Given the description of an element on the screen output the (x, y) to click on. 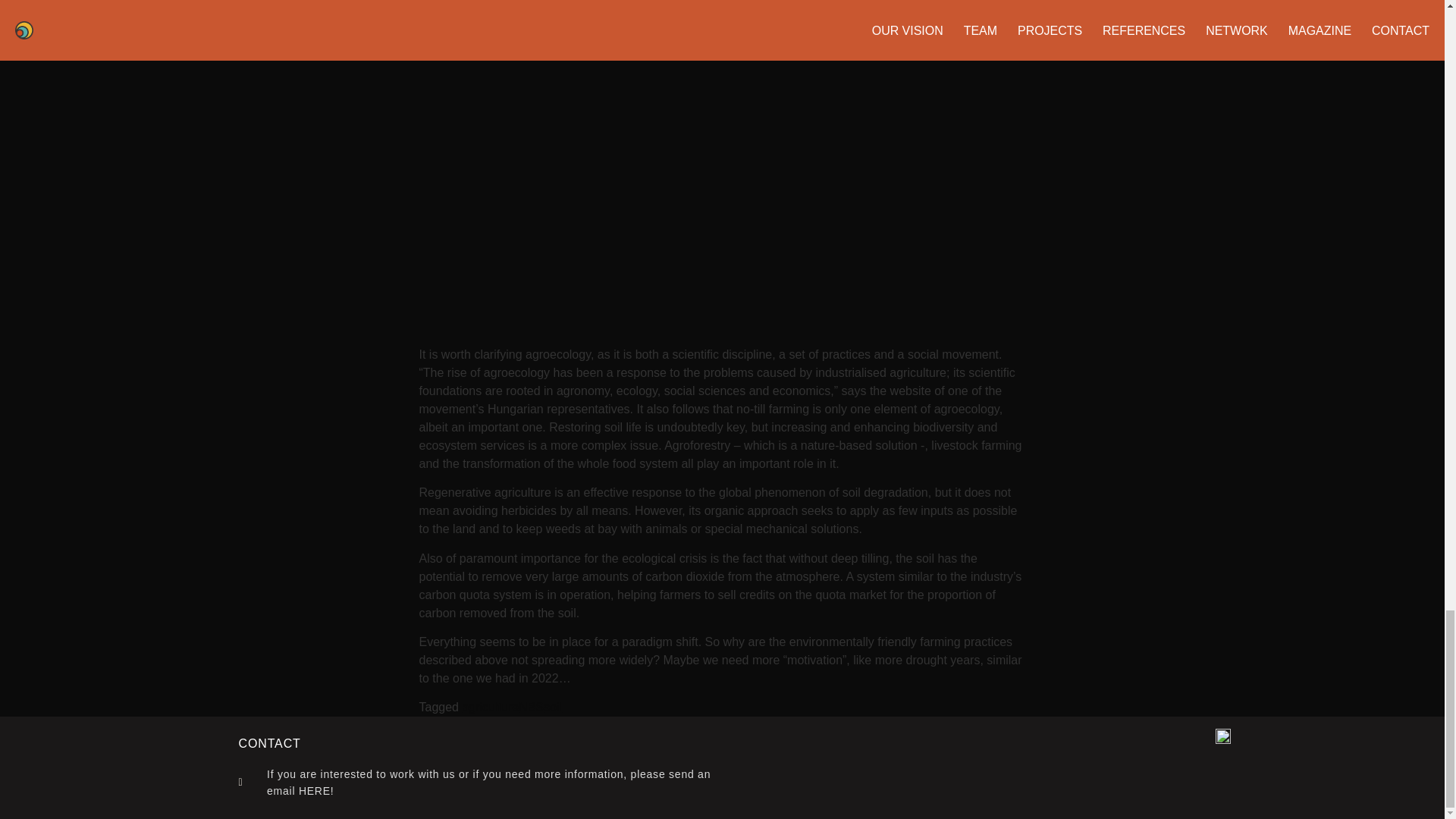
soil (552, 707)
NBS (530, 707)
agriculture (489, 707)
